Given the description of an element on the screen output the (x, y) to click on. 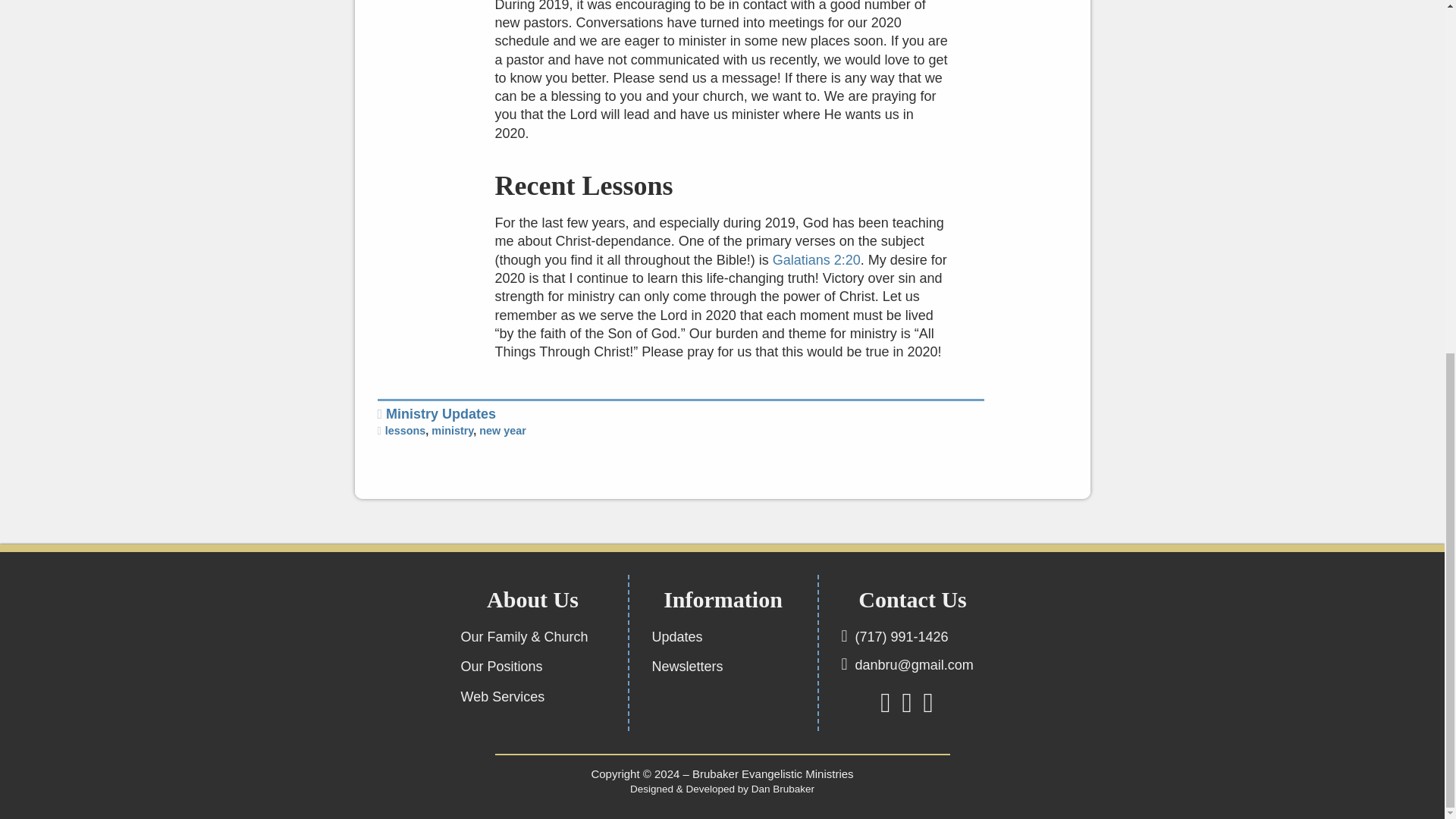
Ministry Updates (440, 413)
Our Positions (502, 668)
Web Services (502, 698)
lessons (405, 430)
ministry (451, 430)
Newsletters (687, 668)
Dan Brubaker (782, 788)
new year (502, 430)
Updates (677, 638)
Galatians 2:20 (816, 259)
